Given the description of an element on the screen output the (x, y) to click on. 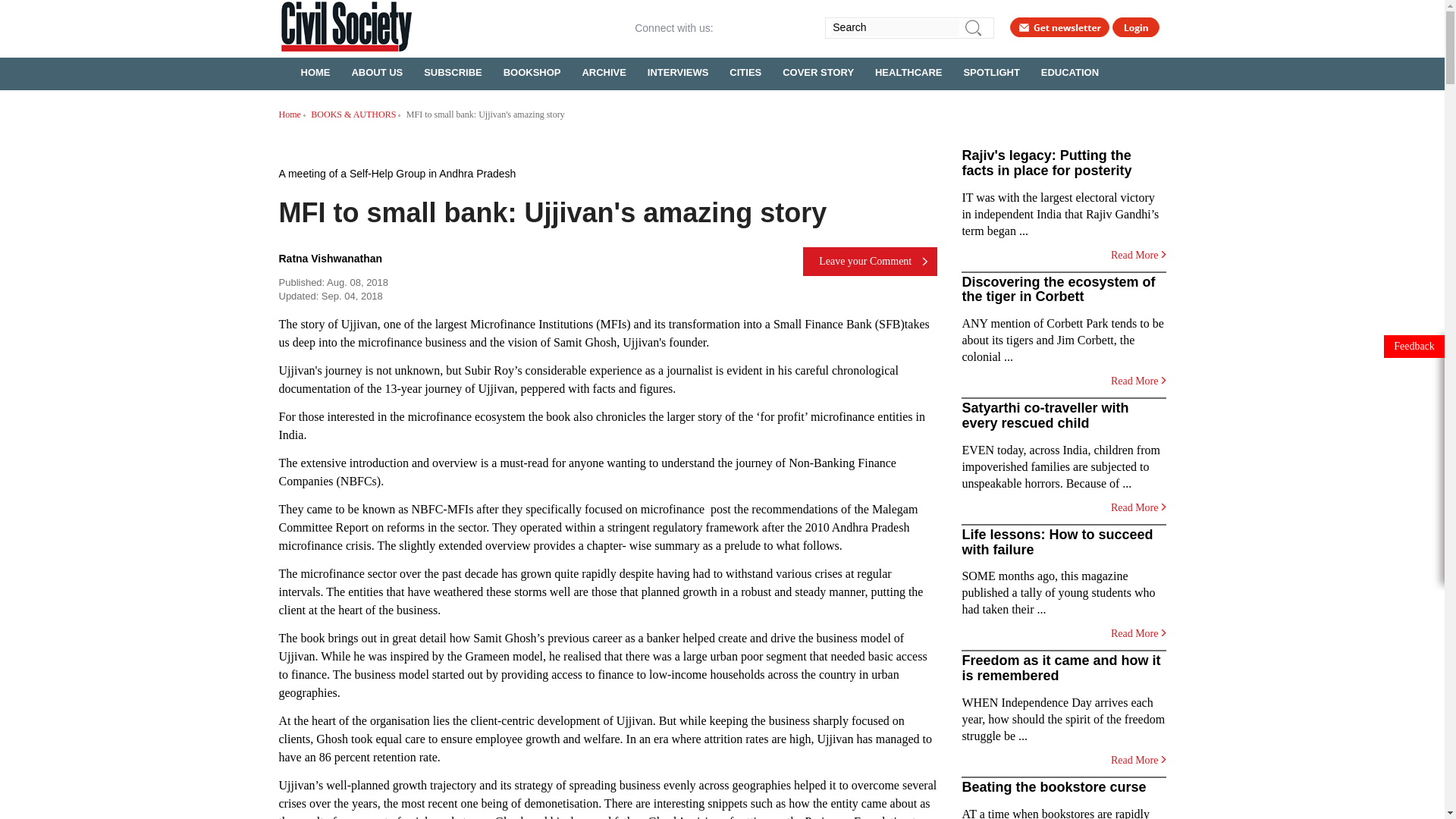
SPOTLIGHT (990, 71)
call (801, 28)
SUBSCRIBE (453, 71)
EDUCATION (1069, 71)
CITIES (745, 71)
HOME (314, 71)
twitter (751, 28)
COVER STORY (817, 71)
ABOUT US (376, 71)
email (776, 28)
